Given the description of an element on the screen output the (x, y) to click on. 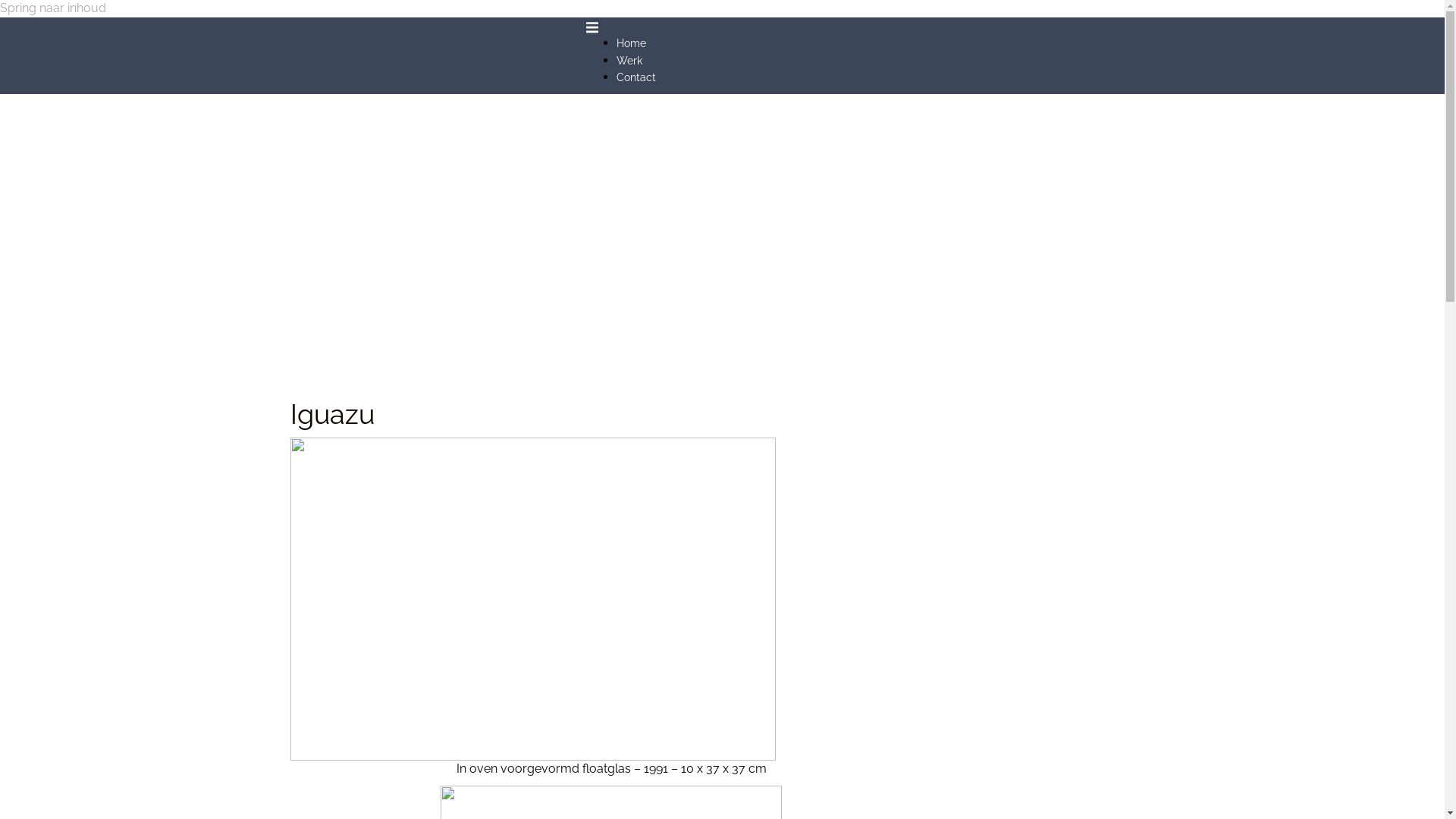
Spring naar inhoud Element type: text (53, 7)
Werk Element type: text (628, 60)
Home Element type: text (630, 43)
Contact Element type: text (635, 77)
